Given the description of an element on the screen output the (x, y) to click on. 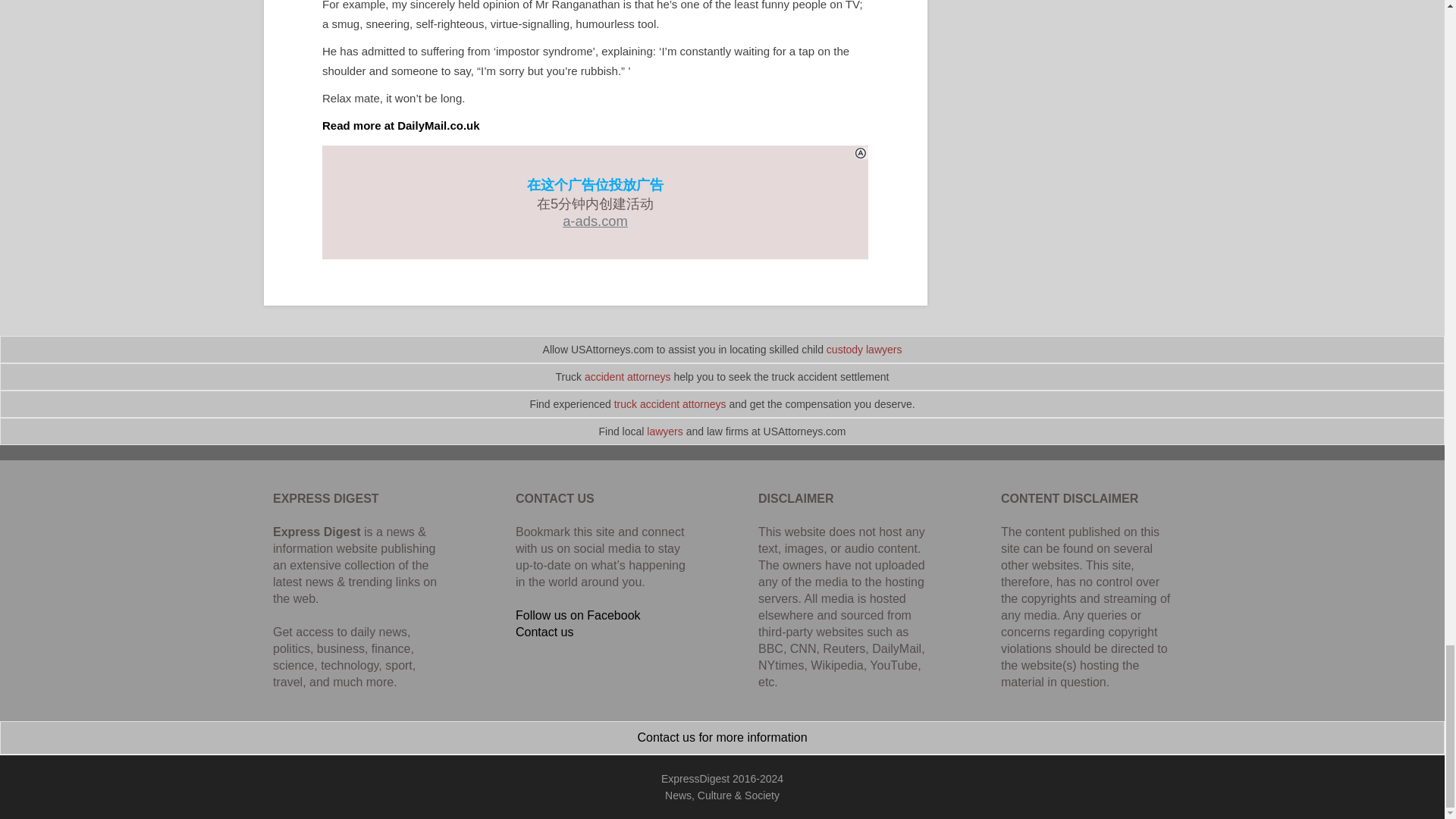
lawyers (664, 431)
truck accident attorneys (670, 404)
accident attorneys (628, 377)
Read more at DailyMail.co.uk (400, 124)
custody lawyers (864, 349)
